Given the description of an element on the screen output the (x, y) to click on. 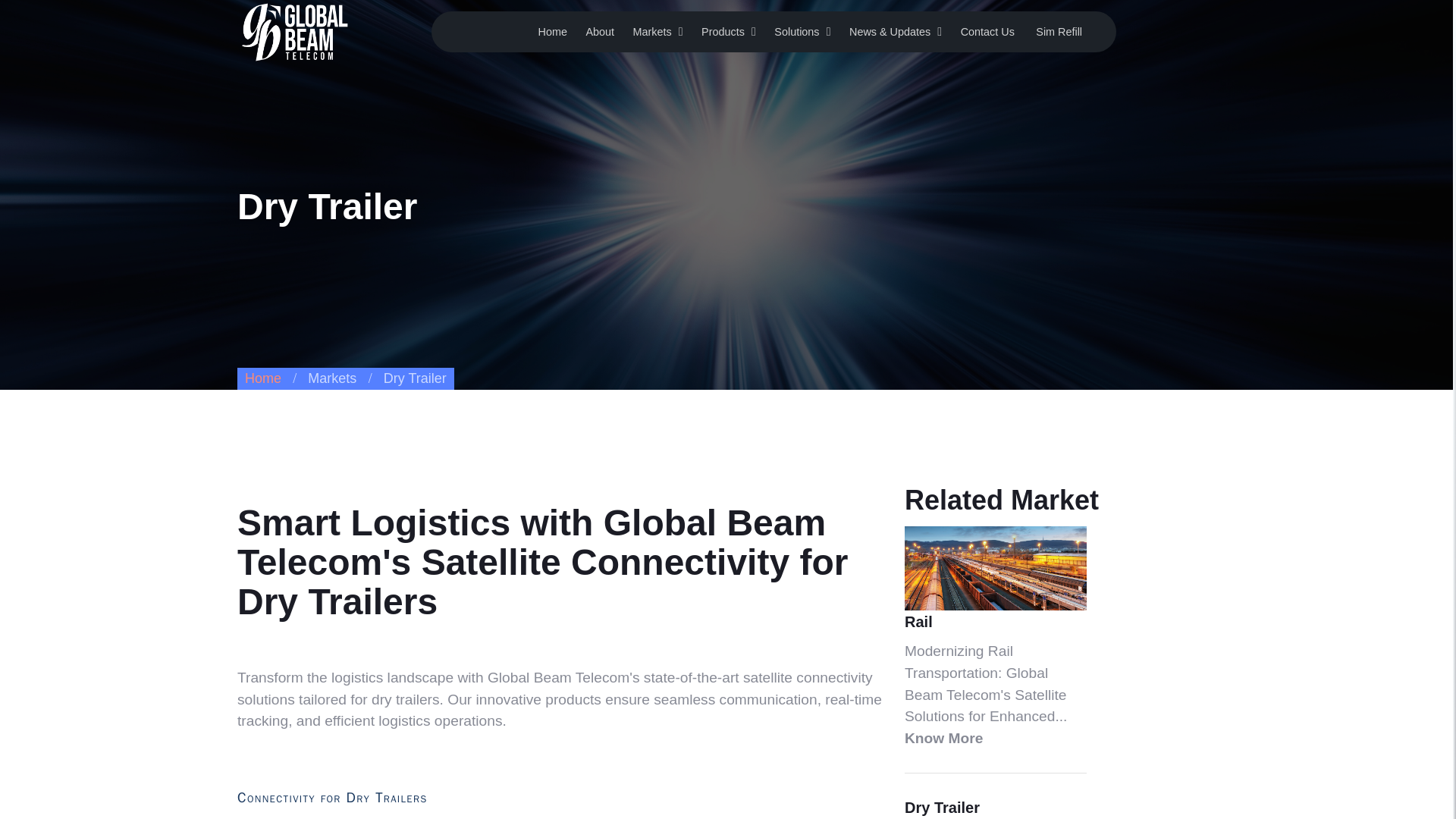
Markets (651, 31)
About (599, 31)
Home (552, 31)
